Given the description of an element on the screen output the (x, y) to click on. 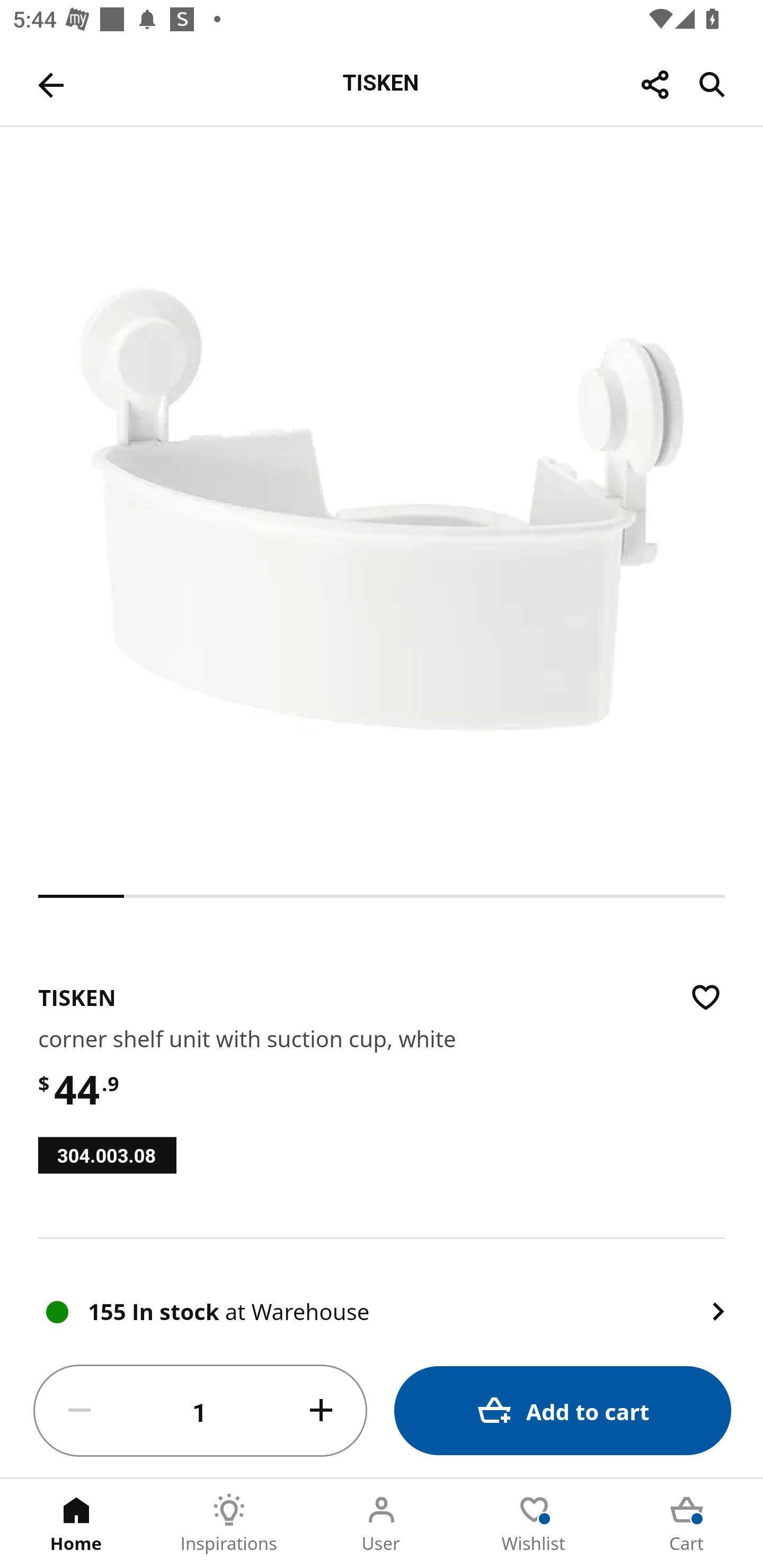
155 In stock at Warehouse (381, 1290)
Add to cart (562, 1410)
1 (200, 1411)
Home
Tab 1 of 5 (76, 1522)
Inspirations
Tab 2 of 5 (228, 1522)
User
Tab 3 of 5 (381, 1522)
Wishlist
Tab 4 of 5 (533, 1522)
Cart
Tab 5 of 5 (686, 1522)
